Given the description of an element on the screen output the (x, y) to click on. 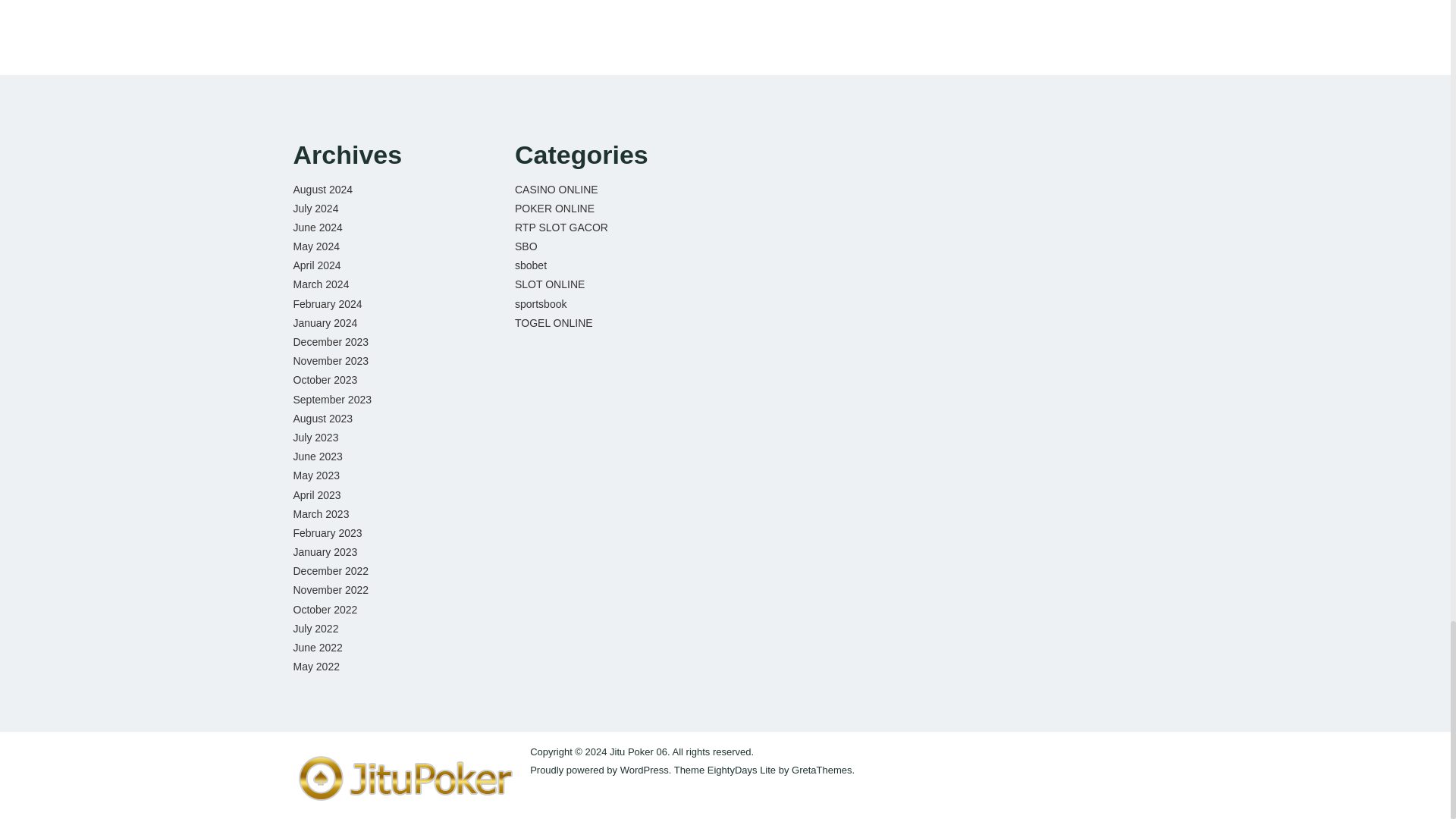
March 2024 (320, 284)
May 2024 (315, 246)
August 2024 (322, 188)
April 2024 (316, 265)
July 2024 (314, 208)
January 2024 (324, 322)
June 2024 (317, 227)
February 2024 (326, 304)
